Given the description of an element on the screen output the (x, y) to click on. 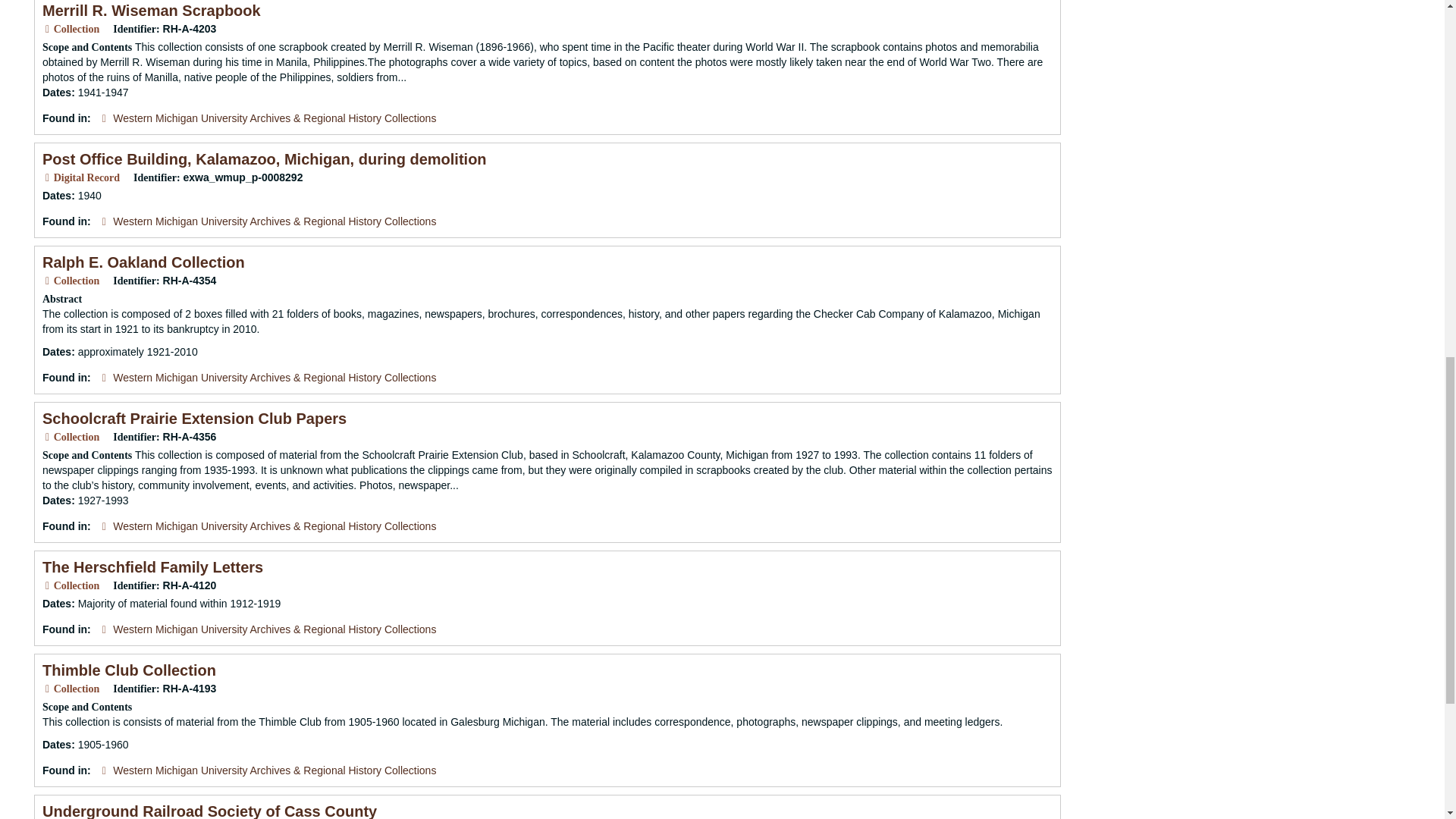
Thimble Club Collection (128, 669)
Post Office Building, Kalamazoo, Michigan, during demolition (264, 158)
Schoolcraft Prairie Extension Club Papers (194, 418)
Underground Railroad Society of Cass County (209, 811)
Merrill R. Wiseman Scrapbook (151, 10)
The Herschfield Family Letters (152, 566)
Ralph E. Oakland Collection (143, 262)
